Given the description of an element on the screen output the (x, y) to click on. 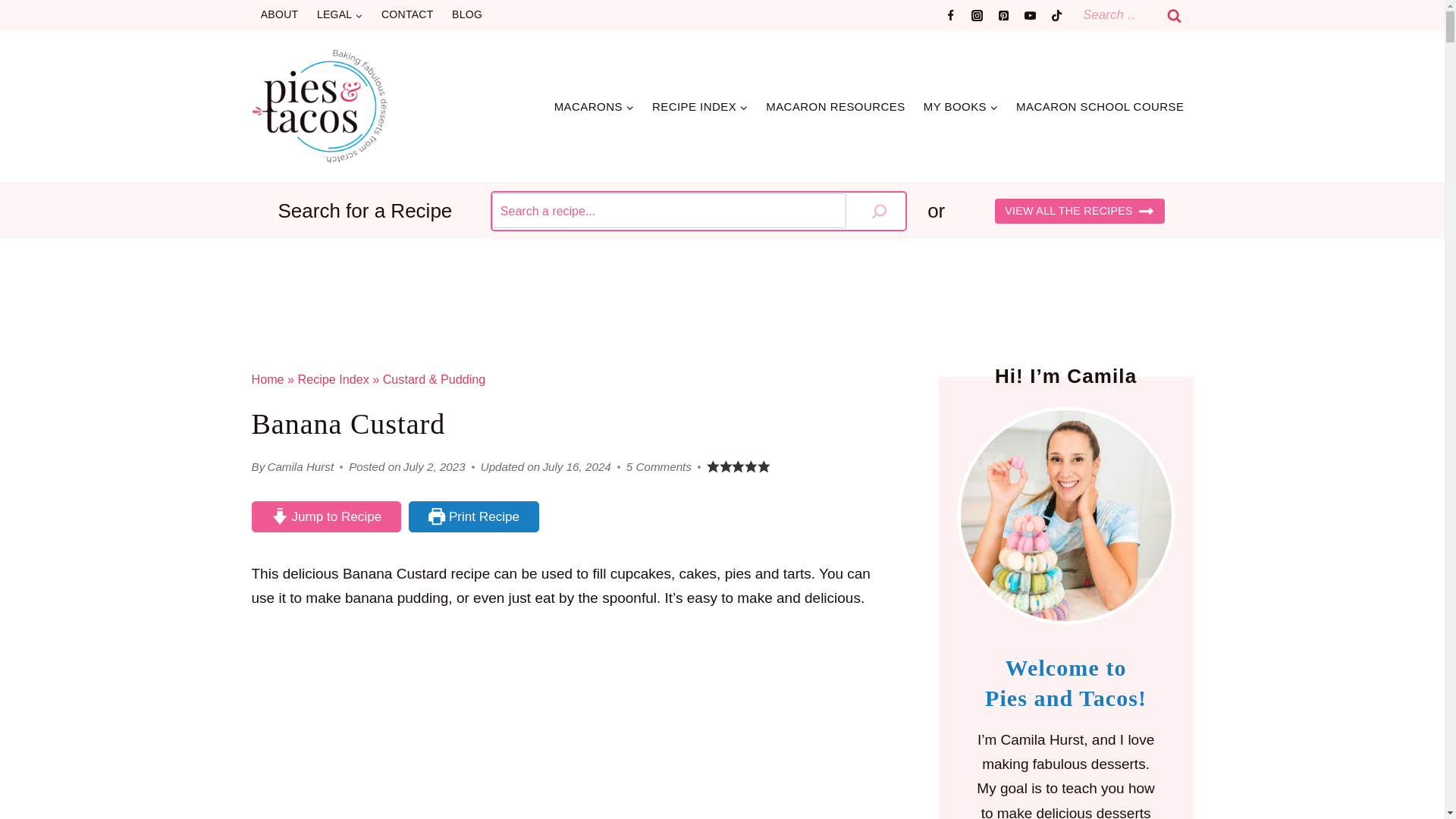
BLOG (467, 15)
5 Comments (658, 466)
MACARONS (593, 106)
CONTACT (407, 15)
RECIPE INDEX (700, 106)
LEGAL (339, 15)
Search (1174, 14)
Search (1174, 14)
ABOUT (279, 15)
Search (1174, 14)
